Given the description of an element on the screen output the (x, y) to click on. 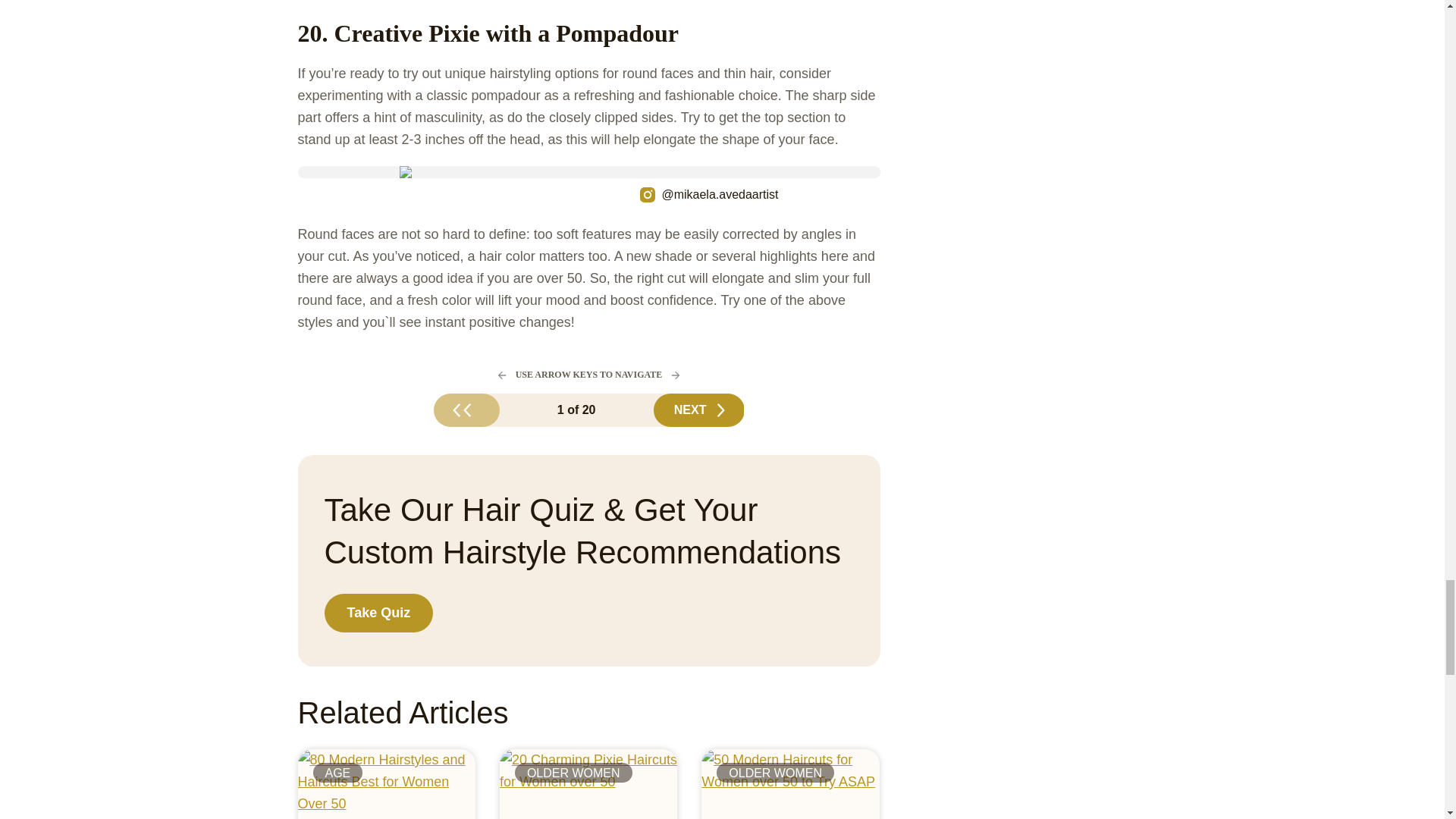
80 Modern Hairstyles and Haircuts Best for Women Over 50 (385, 784)
Older Women (573, 772)
Take Quiz (378, 612)
20 Charming Pixie Haircuts for Women over 50 (588, 784)
Age (337, 772)
50 Modern Haircuts for Women over 50 to Try ASAP (790, 784)
NEXT (698, 409)
Older Women (775, 772)
